Given the description of an element on the screen output the (x, y) to click on. 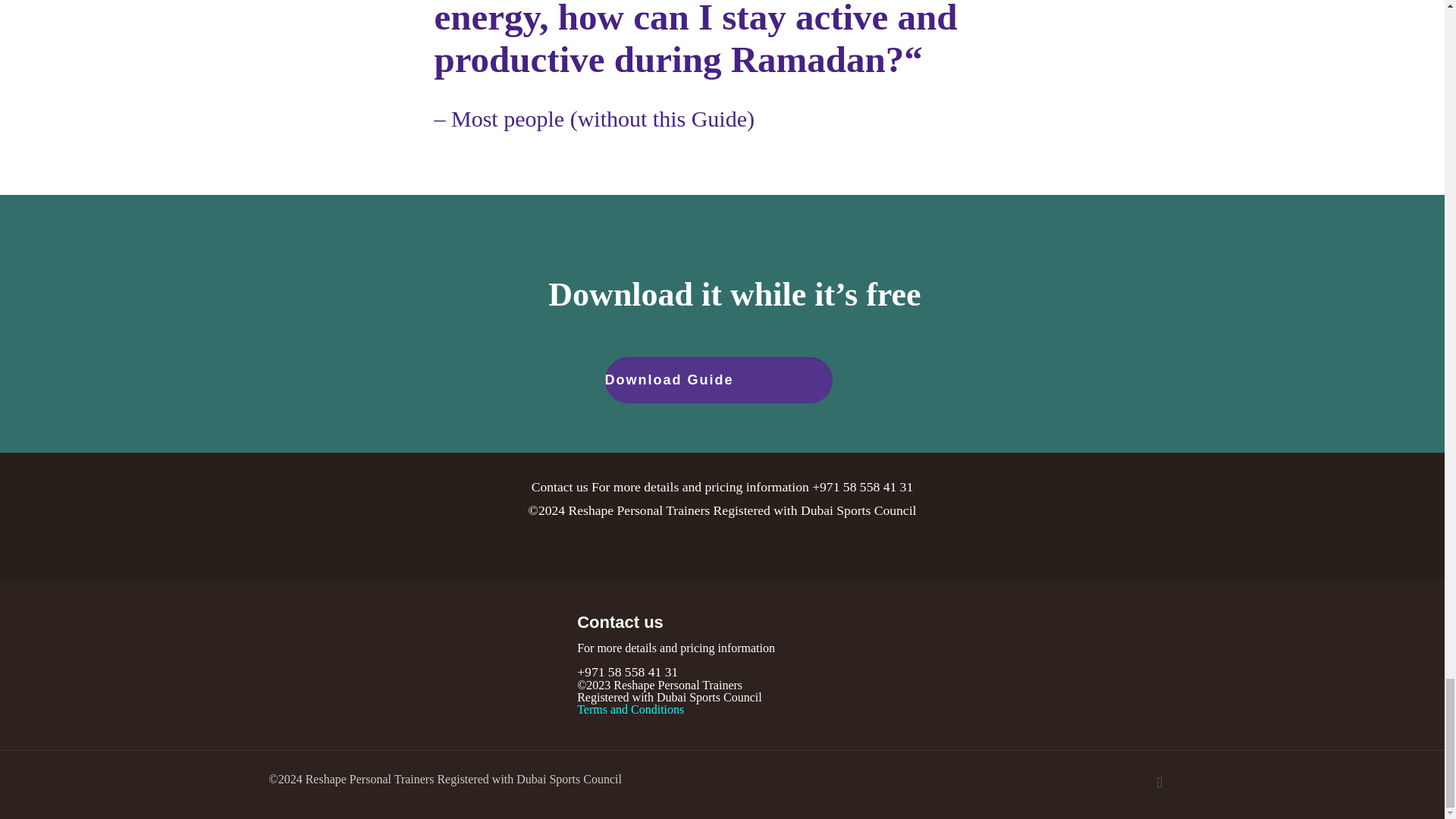
Terms and Conditions (630, 708)
Download Guide (722, 379)
Download Guide (718, 380)
Terms and Conditions (630, 708)
